Given the description of an element on the screen output the (x, y) to click on. 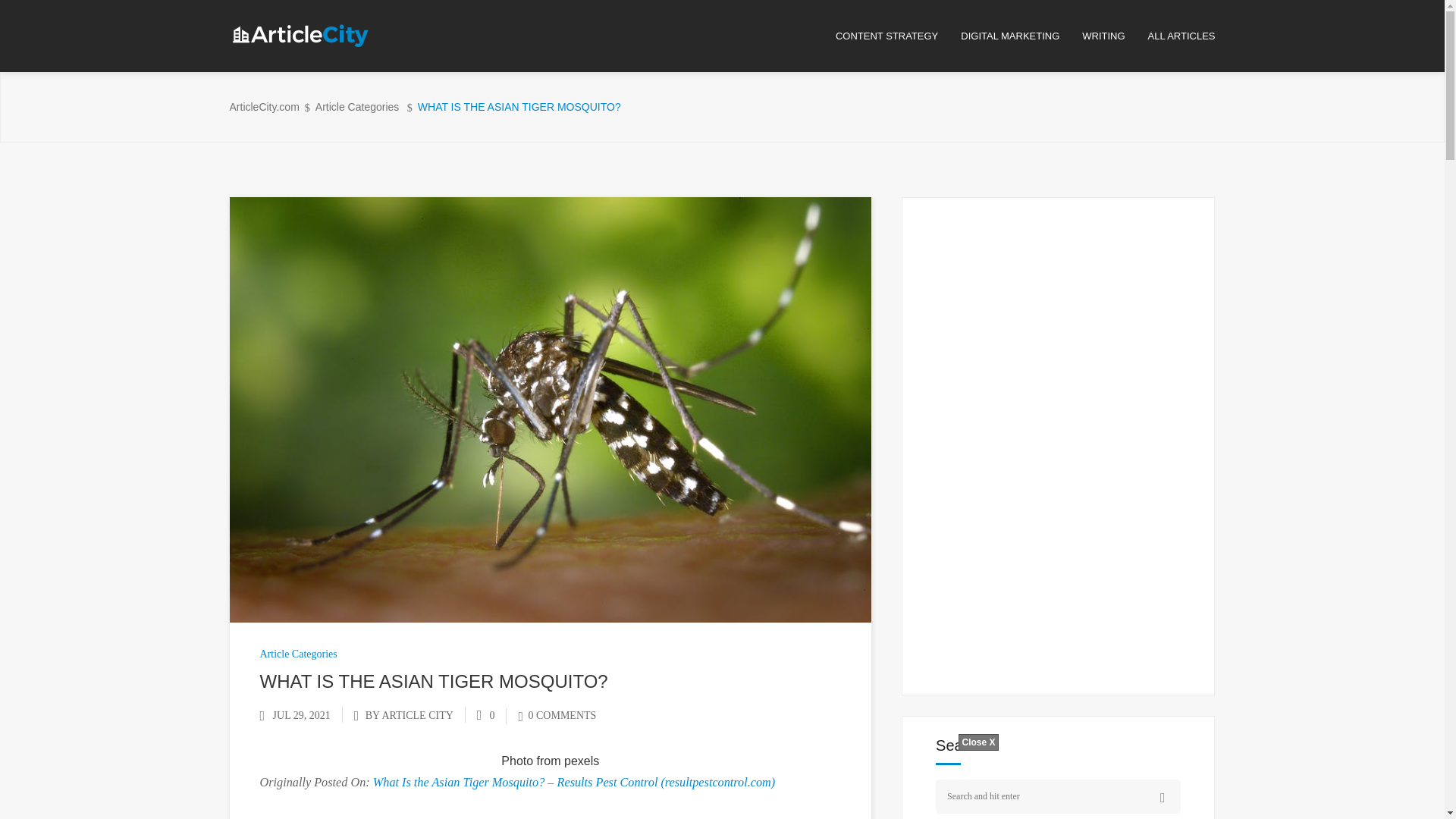
CONTENT STRATEGY (897, 36)
Article Categories (356, 107)
ALL ARTICLES (1181, 36)
ArticleCity.com (263, 107)
Article Categories (297, 654)
0 (486, 715)
Close X (977, 742)
0 COMMENTS (556, 715)
DIGITAL MARKETING (1020, 36)
Like this (486, 715)
WRITING (1114, 36)
Photo (516, 760)
BY ARTICLE CITY (408, 715)
3rd party ad content (1058, 440)
3rd party ad content (721, 785)
